Given the description of an element on the screen output the (x, y) to click on. 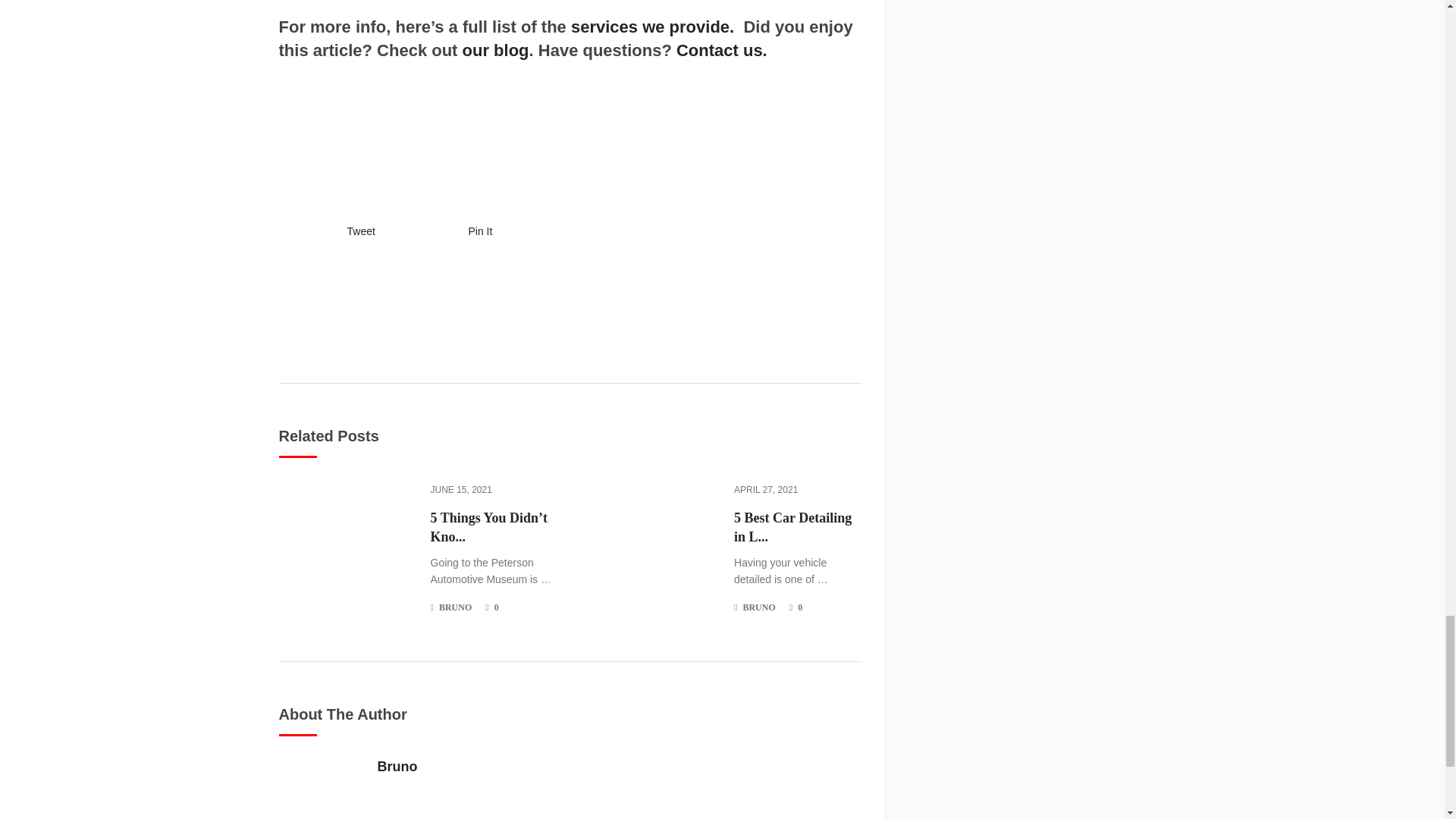
our blog (496, 49)
Posts by Bruno (758, 606)
Contact us. (722, 49)
5 Best Car Detailing in Los Angeles (797, 527)
services we provide. (651, 26)
Posts by Bruno (455, 606)
BRUNO (455, 606)
